Given the description of an element on the screen output the (x, y) to click on. 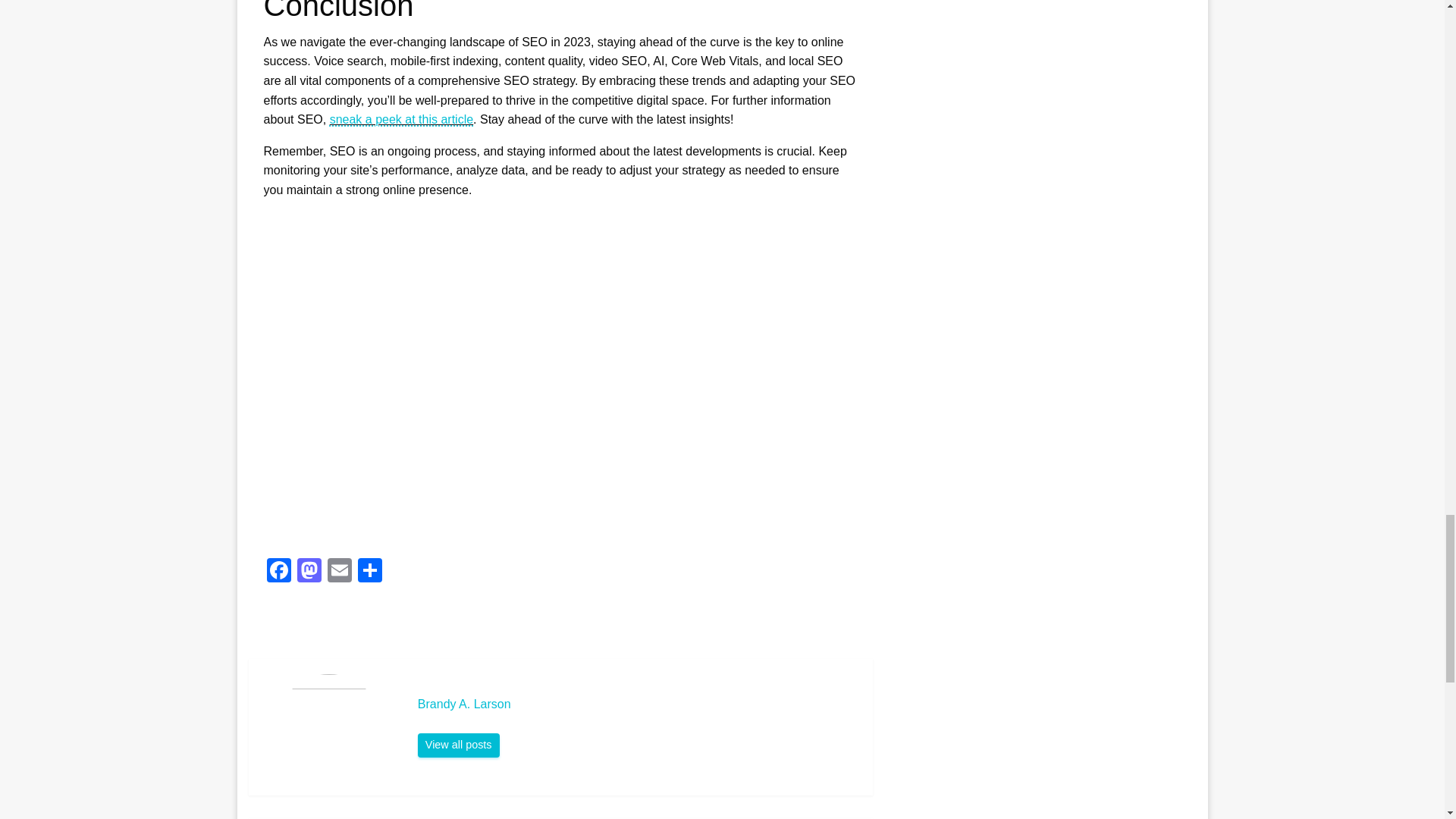
Facebook (278, 571)
Mastodon (309, 571)
Brandy A. Larson (458, 745)
Share (370, 571)
Email (339, 571)
Email (339, 571)
View all posts (458, 745)
sneak a peek at this article (401, 119)
Brandy A. Larson (637, 703)
Mastodon (309, 571)
Facebook (278, 571)
Brandy A. Larson (637, 703)
